Given the description of an element on the screen output the (x, y) to click on. 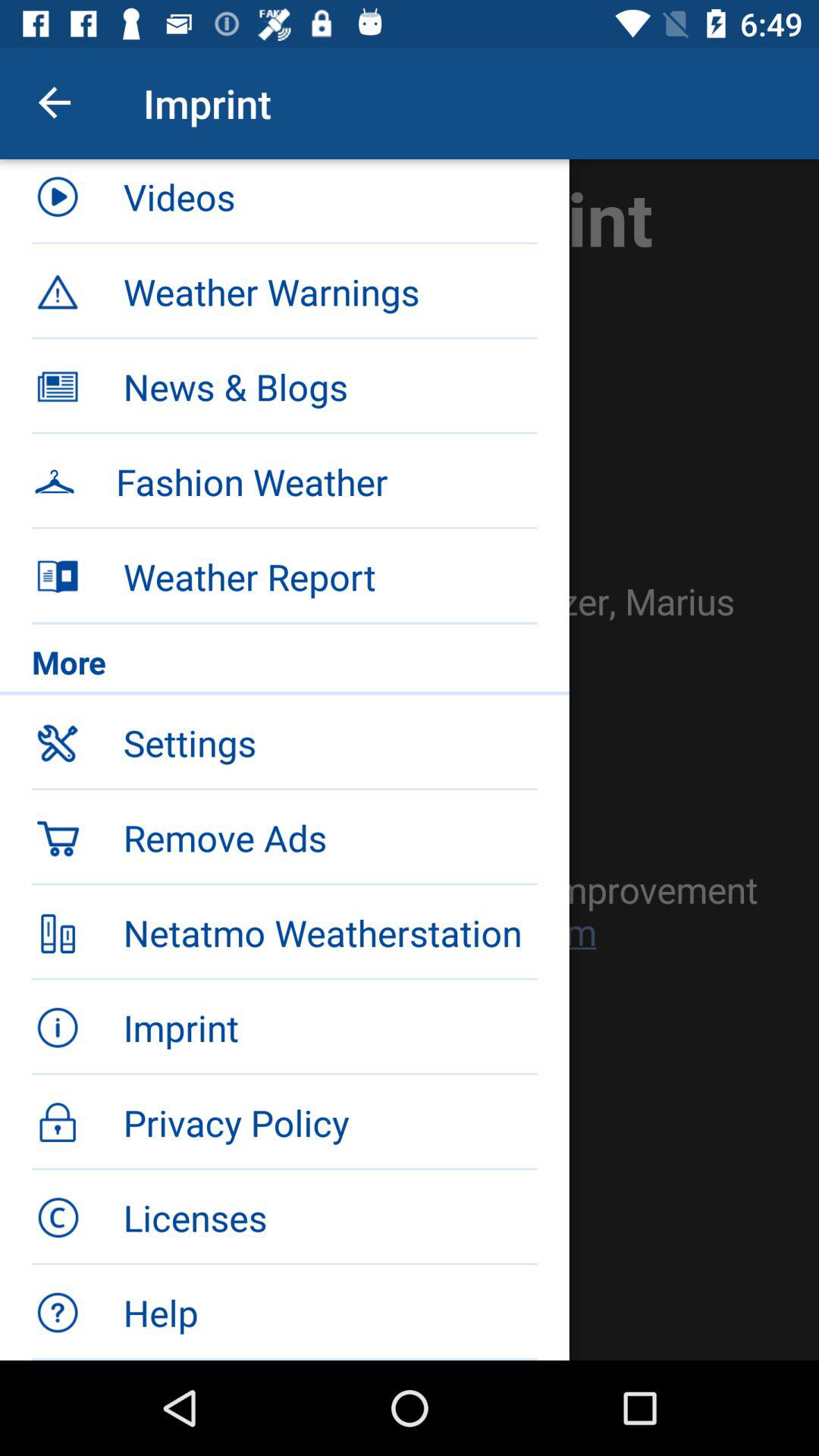
tap the more item (284, 665)
